Given the description of an element on the screen output the (x, y) to click on. 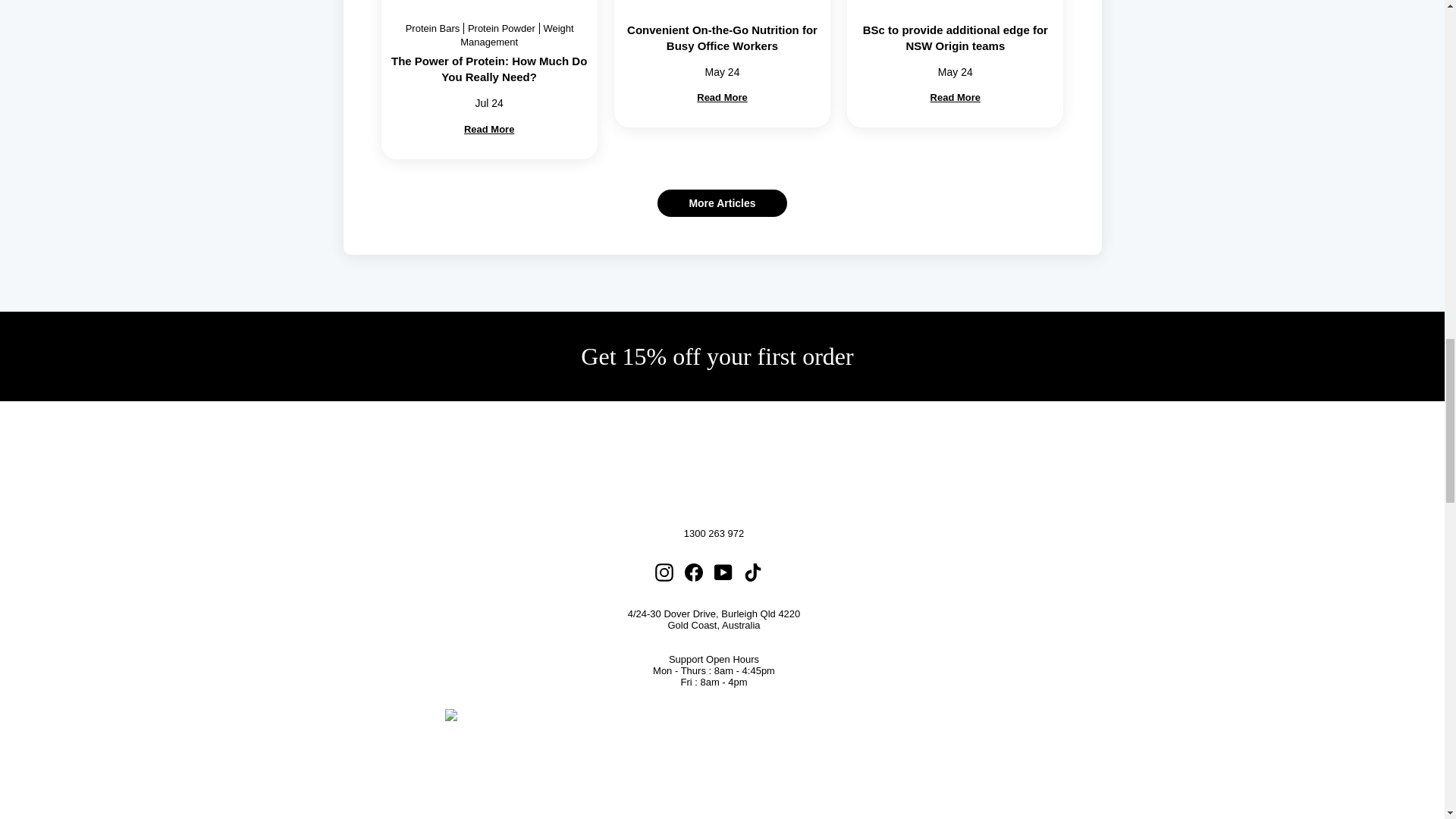
BSc on YouTube (723, 572)
BSc on TikTok (751, 572)
BSc on Facebook (692, 572)
instagram (663, 572)
tel: 1300 263 972 (714, 532)
BSc on Instagram (663, 572)
